Given the description of an element on the screen output the (x, y) to click on. 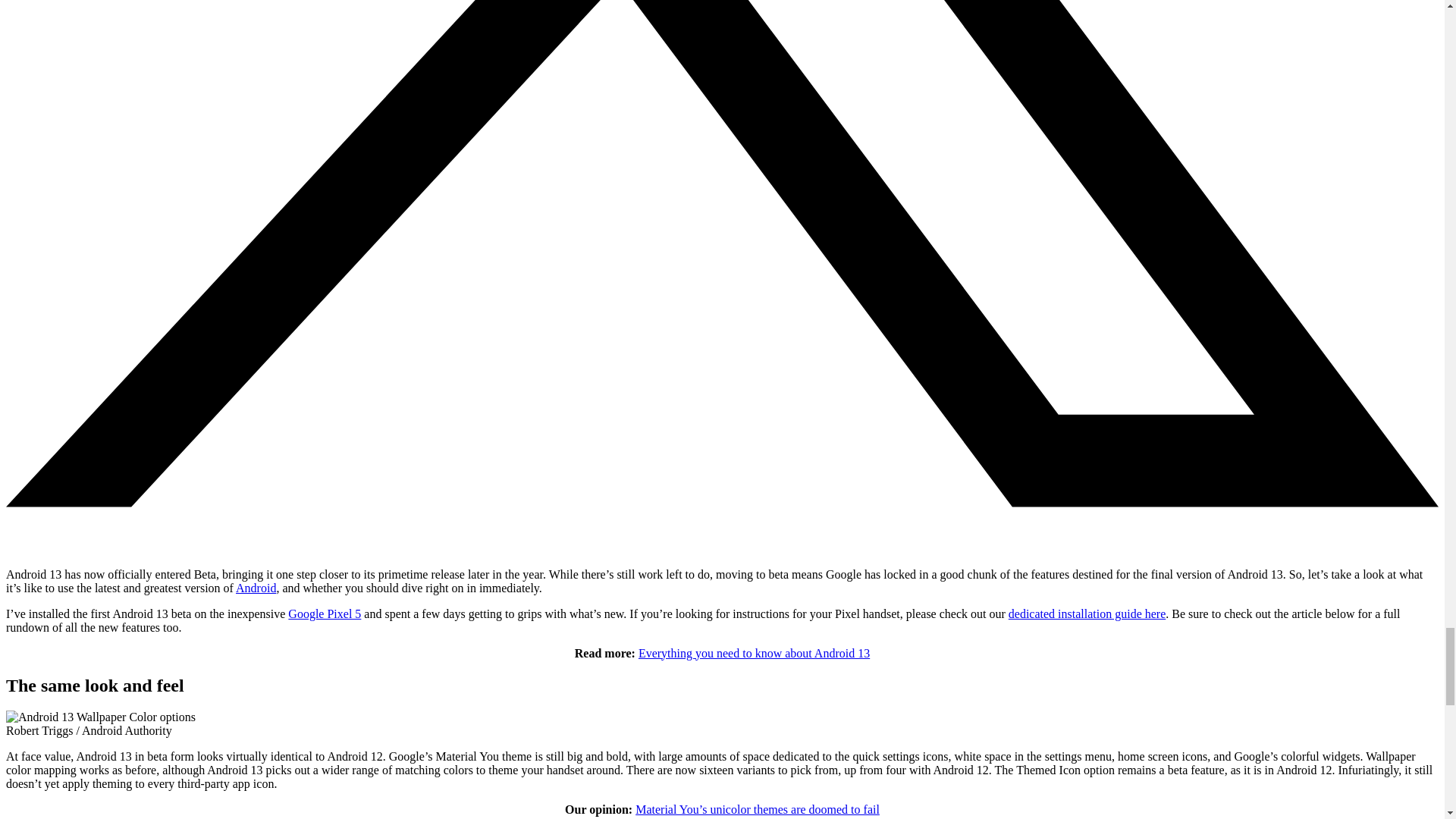
Android (255, 587)
Google Pixel 5 (324, 613)
dedicated installation guide here (1087, 613)
Everything you need to know about Android 13 (754, 653)
Android 13 Wallpaper Color options (100, 716)
